Given the description of an element on the screen output the (x, y) to click on. 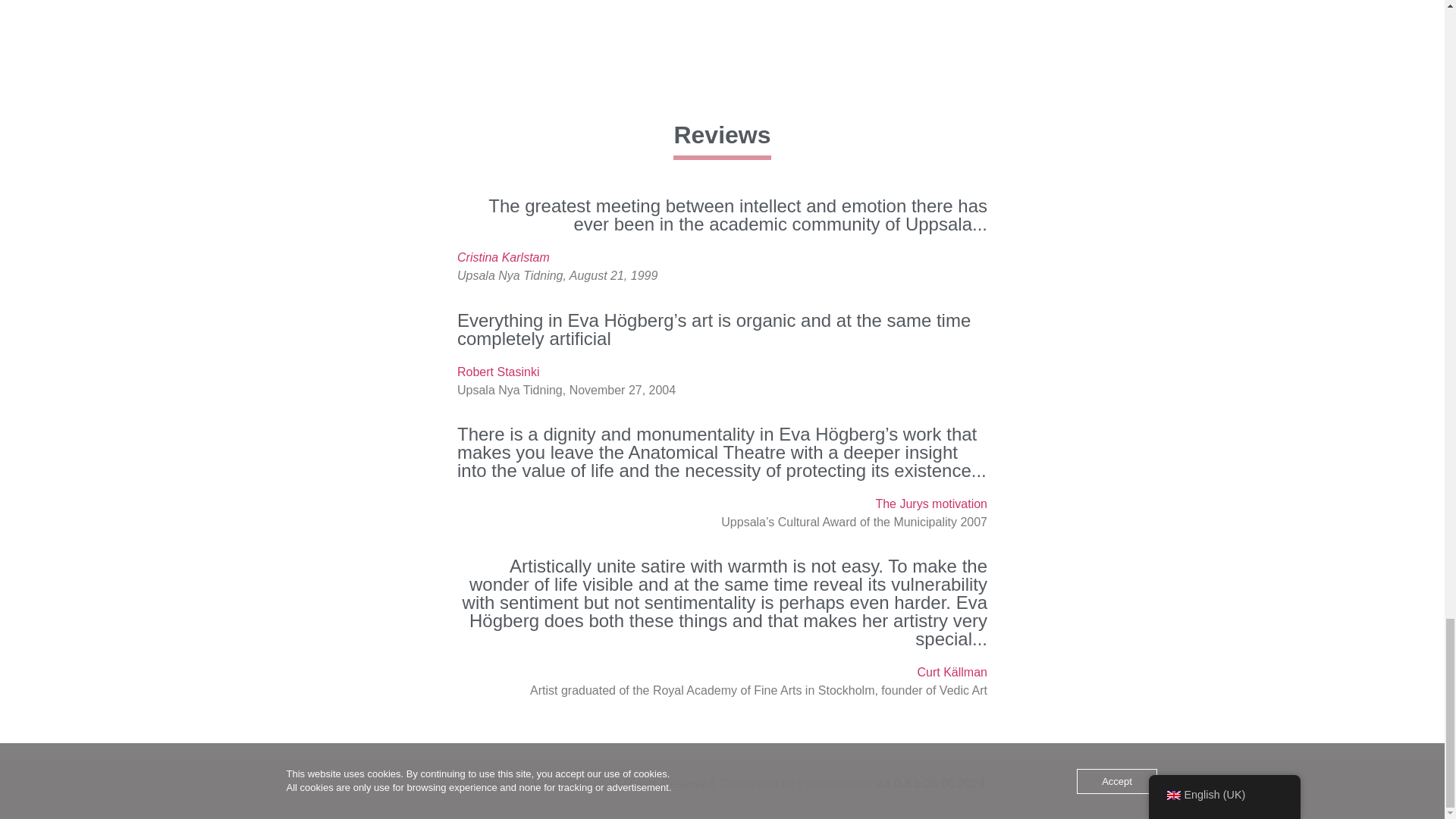
Cristina Karlstam (503, 256)
Robert Stasinki (498, 371)
Developed by PixelKingdom (796, 783)
The Jurys motivation (931, 503)
Reviews (721, 134)
